Given the description of an element on the screen output the (x, y) to click on. 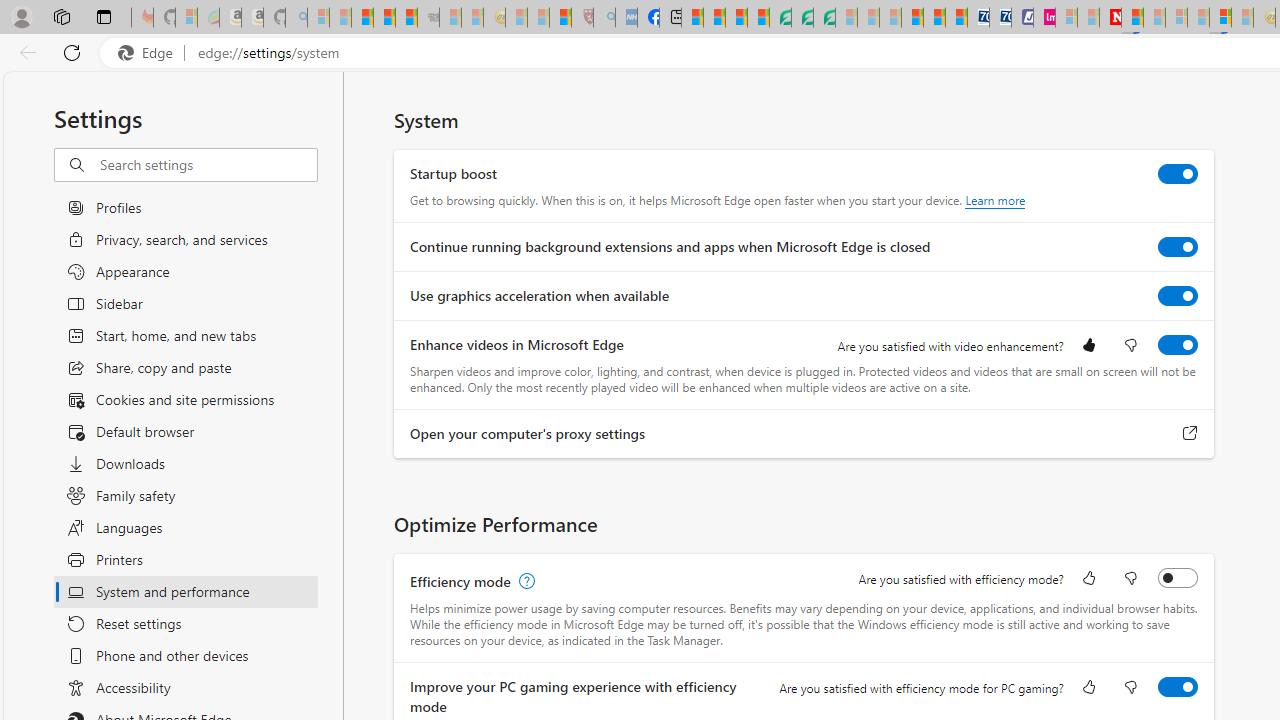
MSNBC - MSN (692, 17)
Refresh (72, 52)
Cheap Hotels - Save70.com (1000, 17)
Dislike (1130, 688)
Back (24, 52)
Trusted Community Engagement and Contributions | Guidelines (1132, 17)
Microsoft Start - Sleeping (1088, 17)
Like (1089, 688)
Microsoft-Report a Concern to Bing - Sleeping (186, 17)
Workspaces (61, 16)
